Given the description of an element on the screen output the (x, y) to click on. 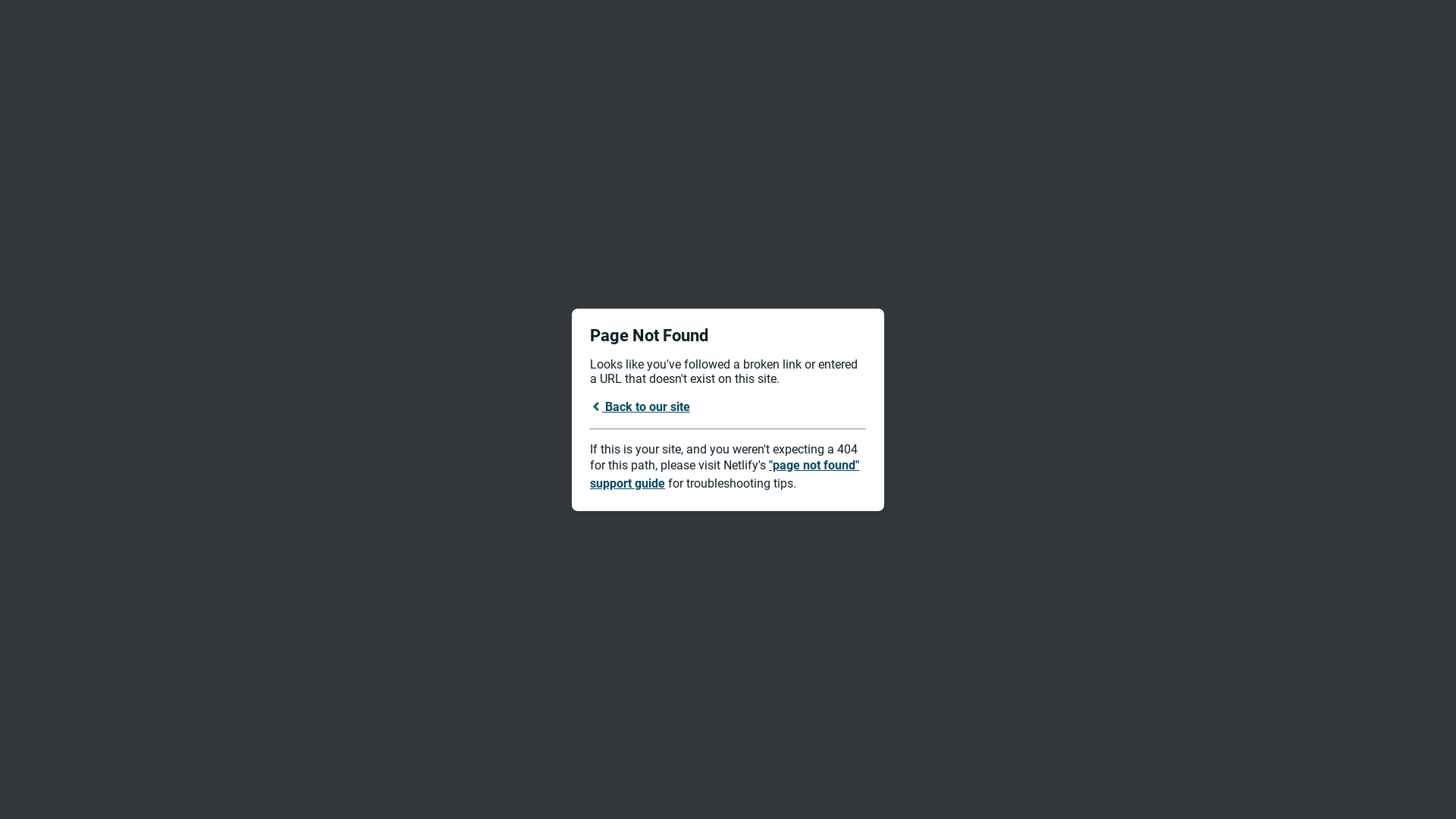
Back to our site Element type: text (639, 405)
"page not found" support guide Element type: text (724, 474)
